Given the description of an element on the screen output the (x, y) to click on. 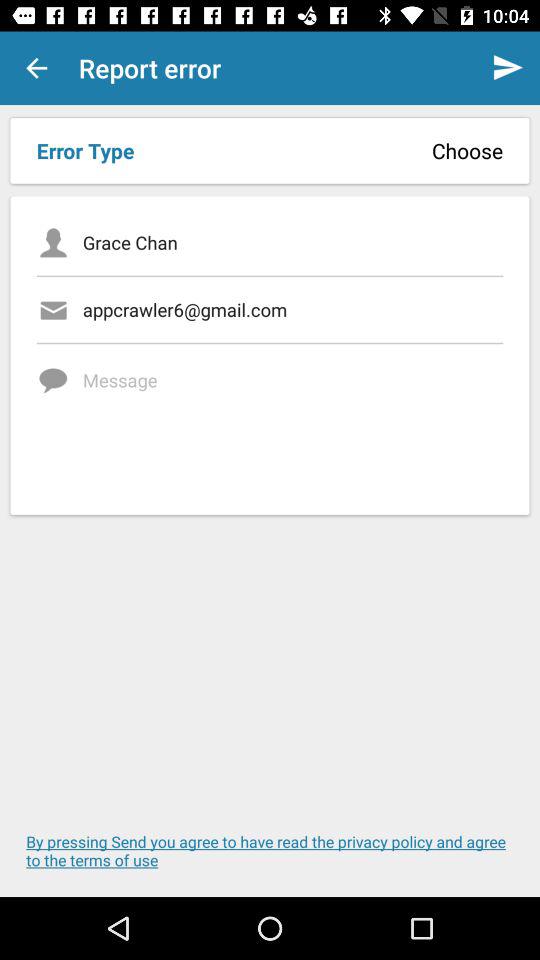
report error message field (292, 422)
